Given the description of an element on the screen output the (x, y) to click on. 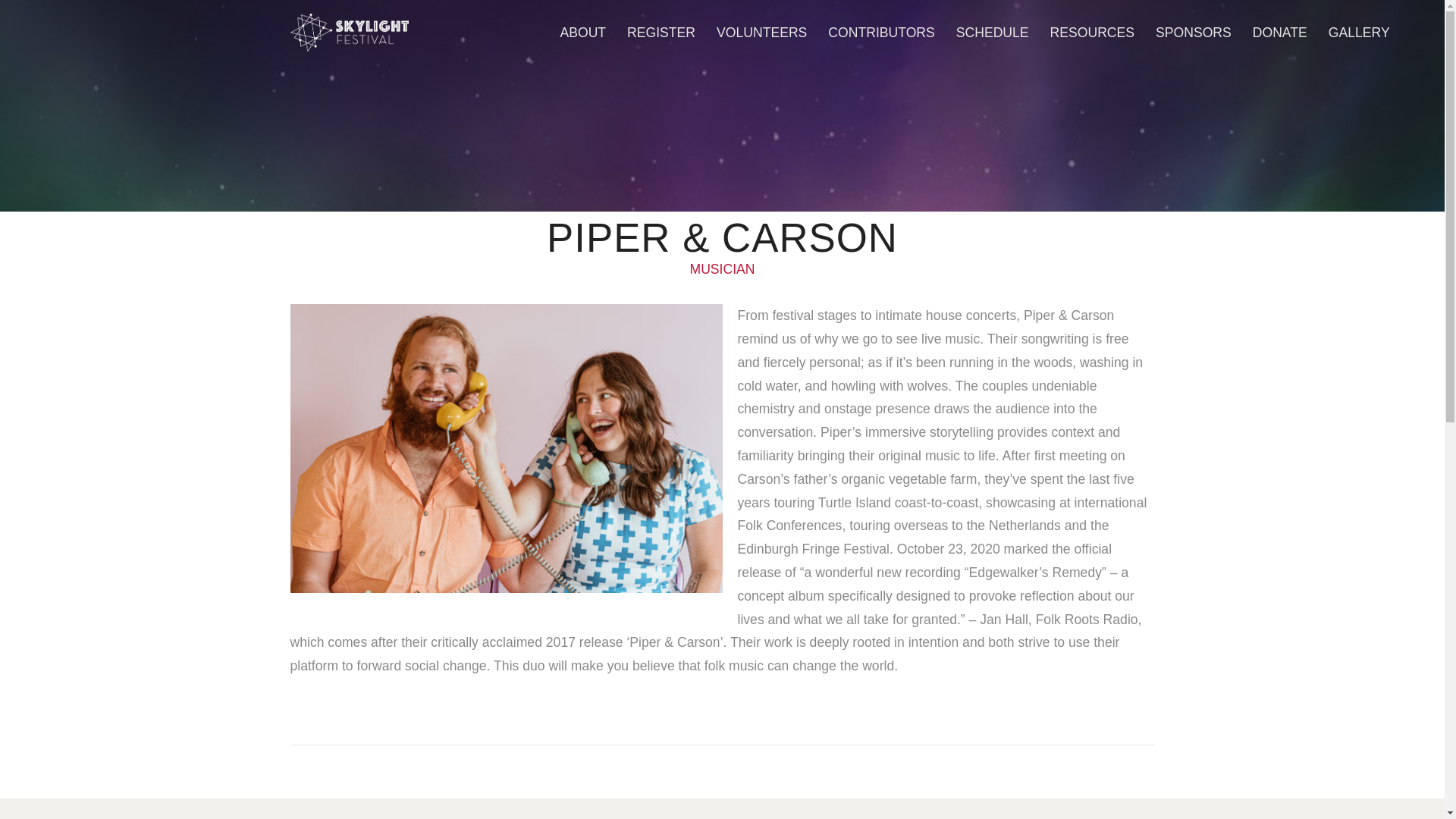
GALLERY (1358, 32)
SCHEDULE (991, 32)
ABOUT (581, 32)
SPONSORS (1192, 32)
RESOURCES (1091, 32)
CONTRIBUTORS (880, 32)
REGISTER (660, 32)
VOLUNTEERS (761, 32)
DONATE (1279, 32)
